Given the description of an element on the screen output the (x, y) to click on. 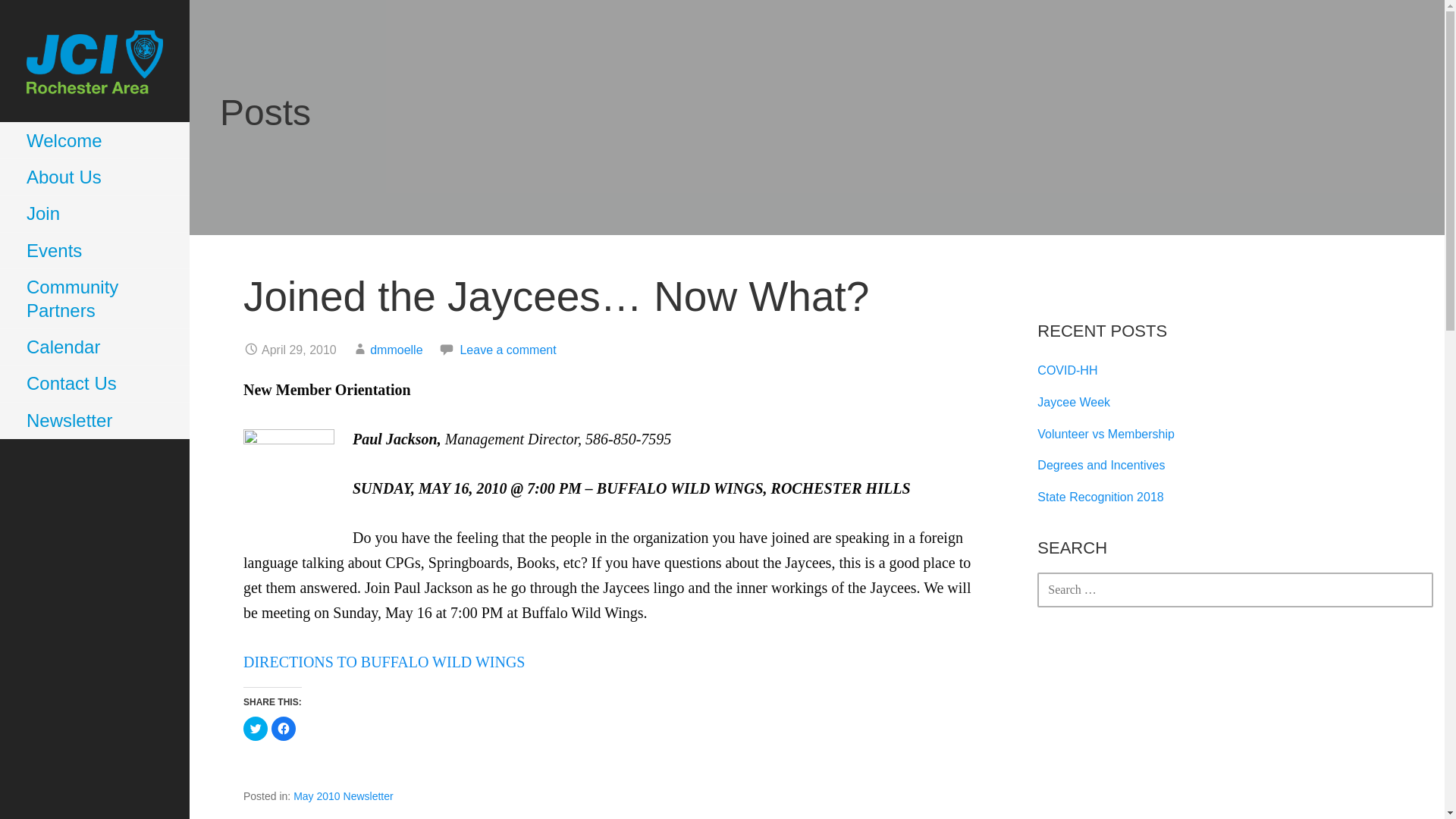
DIRECTIONS TO BUFFALO WILD WINGS (384, 661)
JCI ROCHESTER AREA (107, 133)
scratching head (288, 471)
Click to share on Facebook (282, 728)
Join (94, 213)
Contact Us (94, 383)
Events (94, 250)
About Us (94, 176)
Calendar (94, 347)
dmmoelle (395, 349)
Newsletter (94, 420)
Leave a comment (508, 349)
Welcome (94, 140)
Posts by dmmoelle (395, 349)
Click to share on Twitter (255, 728)
